Given the description of an element on the screen output the (x, y) to click on. 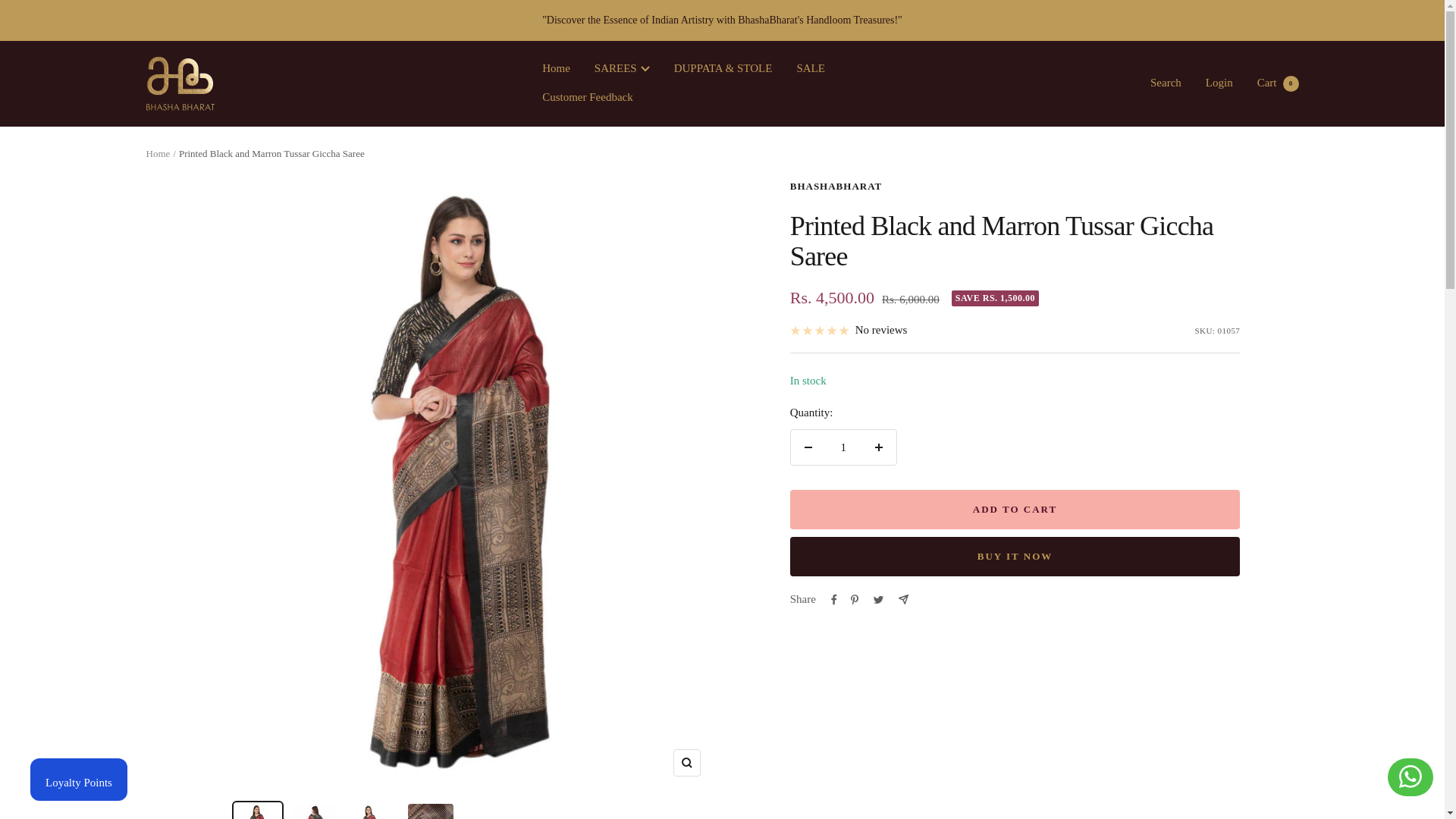
SALE (810, 68)
BHASHABHARAT (836, 185)
Beautiful Indian Ethnic wear (1277, 82)
Home (179, 83)
Customer Feedback (555, 68)
Search (587, 97)
Zoom (1165, 82)
Login (686, 762)
SAREES (1219, 82)
1 (621, 68)
Home (843, 447)
